Given the description of an element on the screen output the (x, y) to click on. 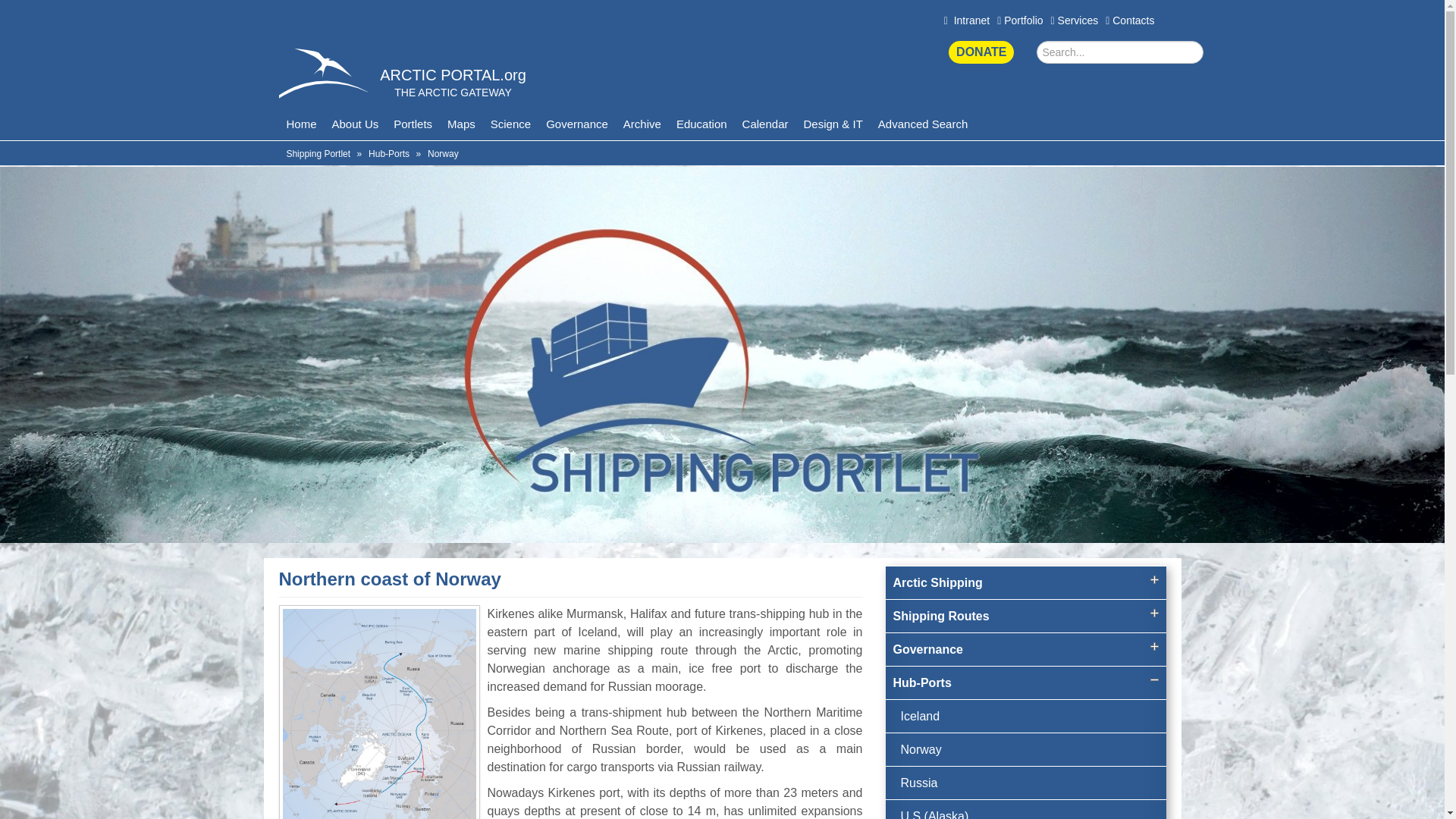
Portfolio (1019, 20)
Home (301, 124)
Portlets (412, 124)
Contacts (1129, 20)
Services (1075, 20)
About Us (355, 124)
Governance (576, 124)
Arctic Portal.org (452, 74)
Intranet (966, 20)
Maps (461, 124)
